Given the description of an element on the screen output the (x, y) to click on. 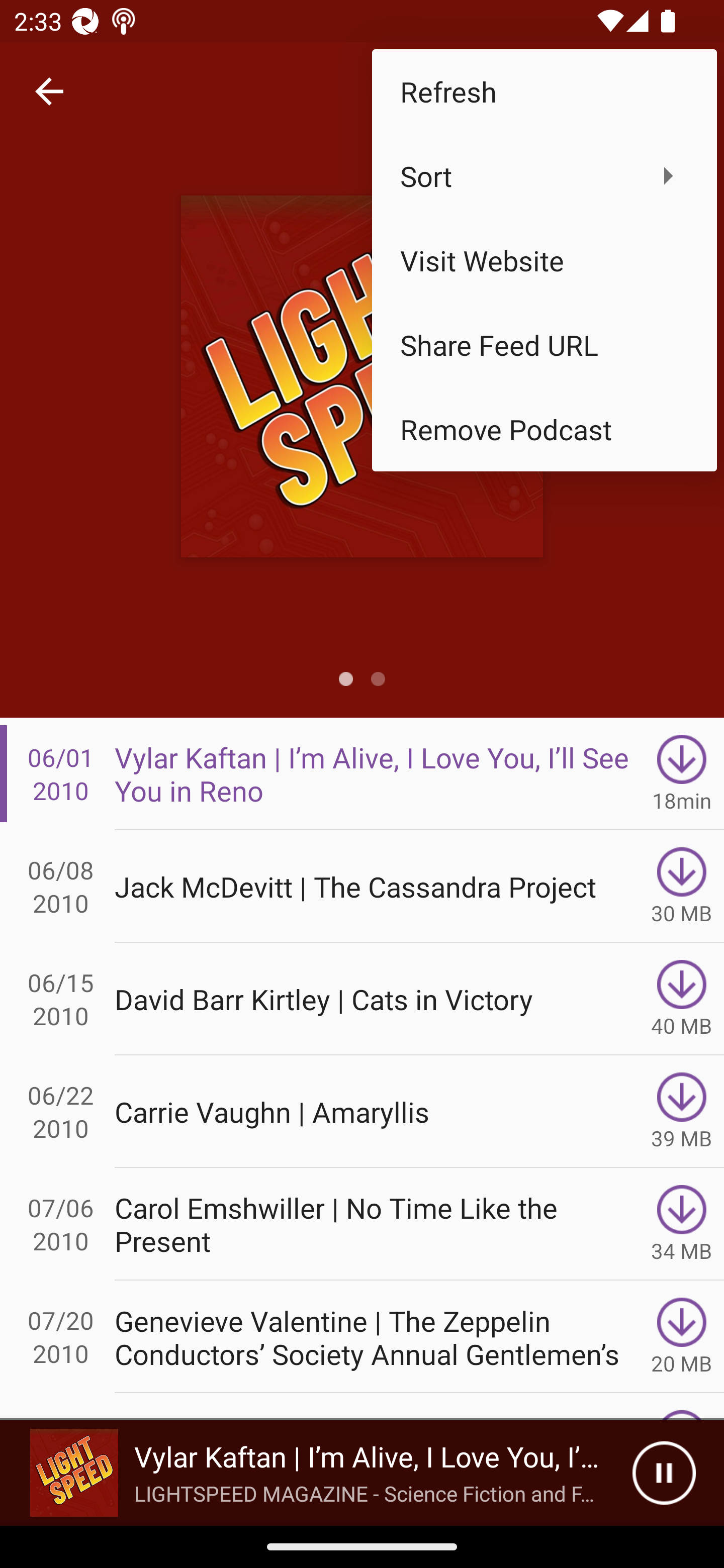
Refresh (544, 90)
Sort (544, 175)
Visit Website (544, 259)
Share Feed URL (544, 344)
Remove Podcast (544, 429)
